Given the description of an element on the screen output the (x, y) to click on. 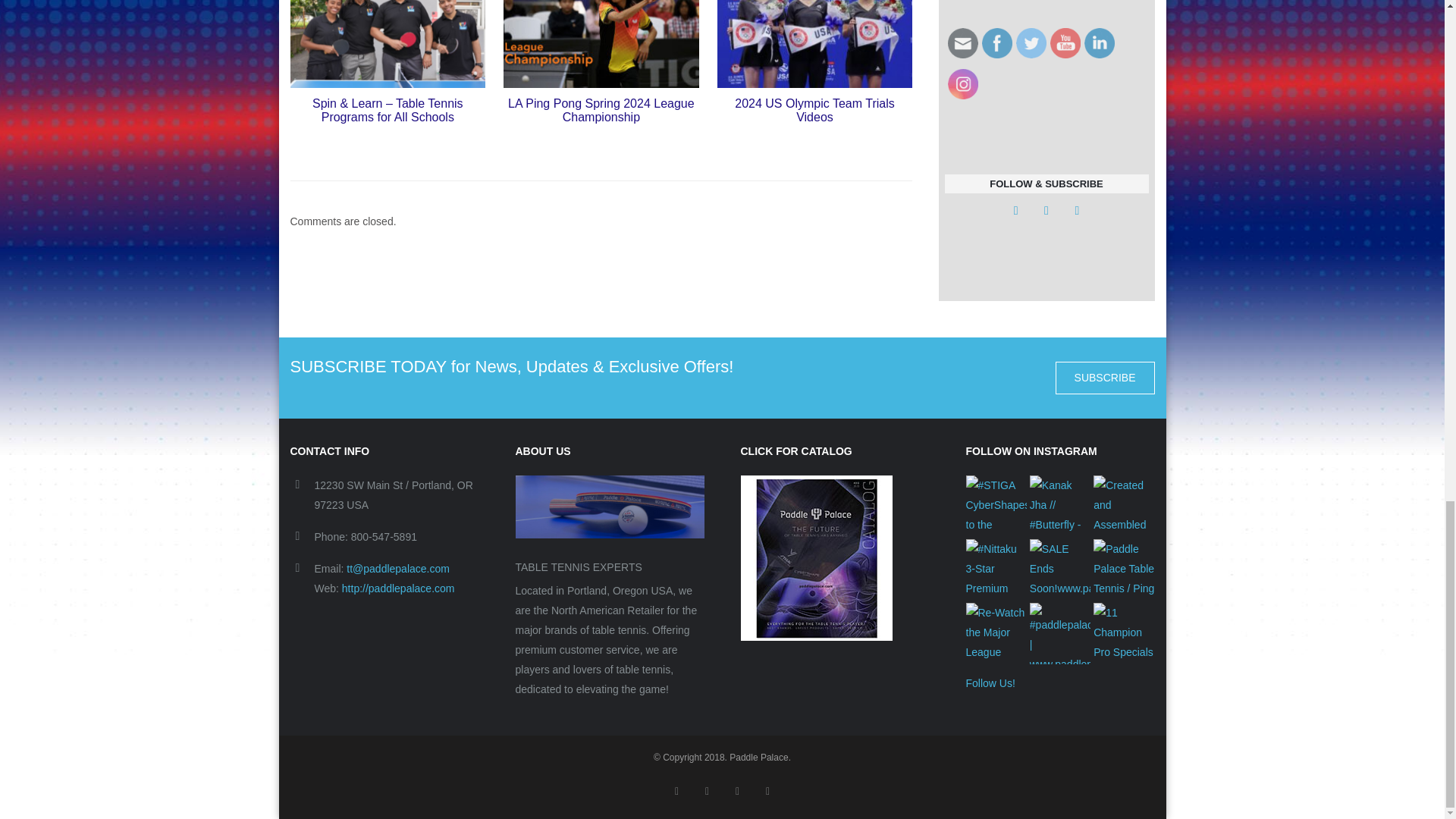
Follow by Email (962, 42)
YouTube (1064, 42)
Facebook (996, 42)
LinkedIn (1099, 42)
Instagram (962, 83)
Twitter (1031, 42)
